Given the description of an element on the screen output the (x, y) to click on. 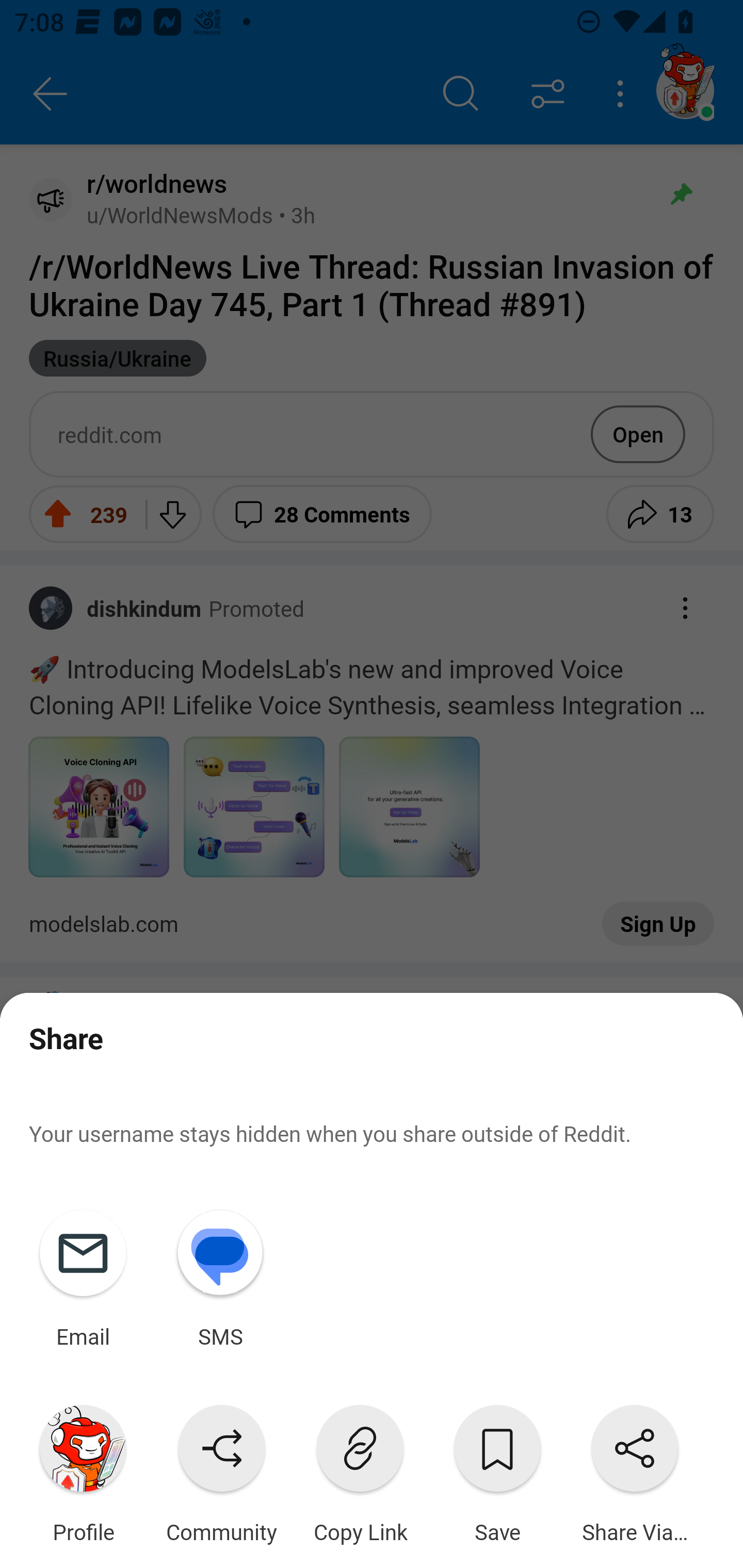
Email (82, 1274)
SMS (220, 1274)
Profile (82, 1470)
Community (221, 1470)
Copy Link (359, 1470)
Save (497, 1470)
Share Via… (634, 1470)
